Given the description of an element on the screen output the (x, y) to click on. 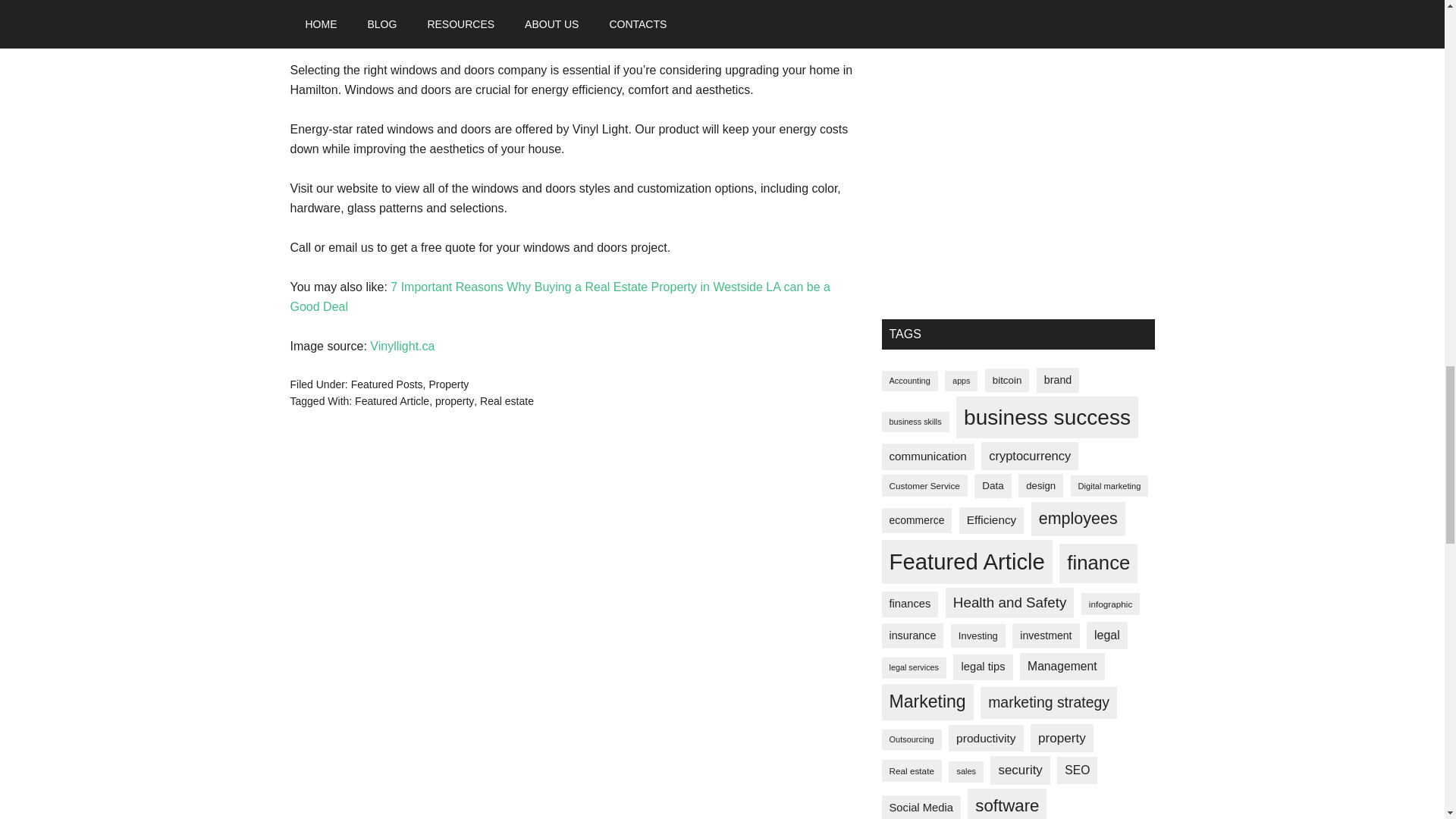
Real estate (507, 400)
property (454, 400)
Featured Posts (386, 384)
Property (448, 384)
Vinyllight.ca (401, 345)
Featured Article (392, 400)
